Given the description of an element on the screen output the (x, y) to click on. 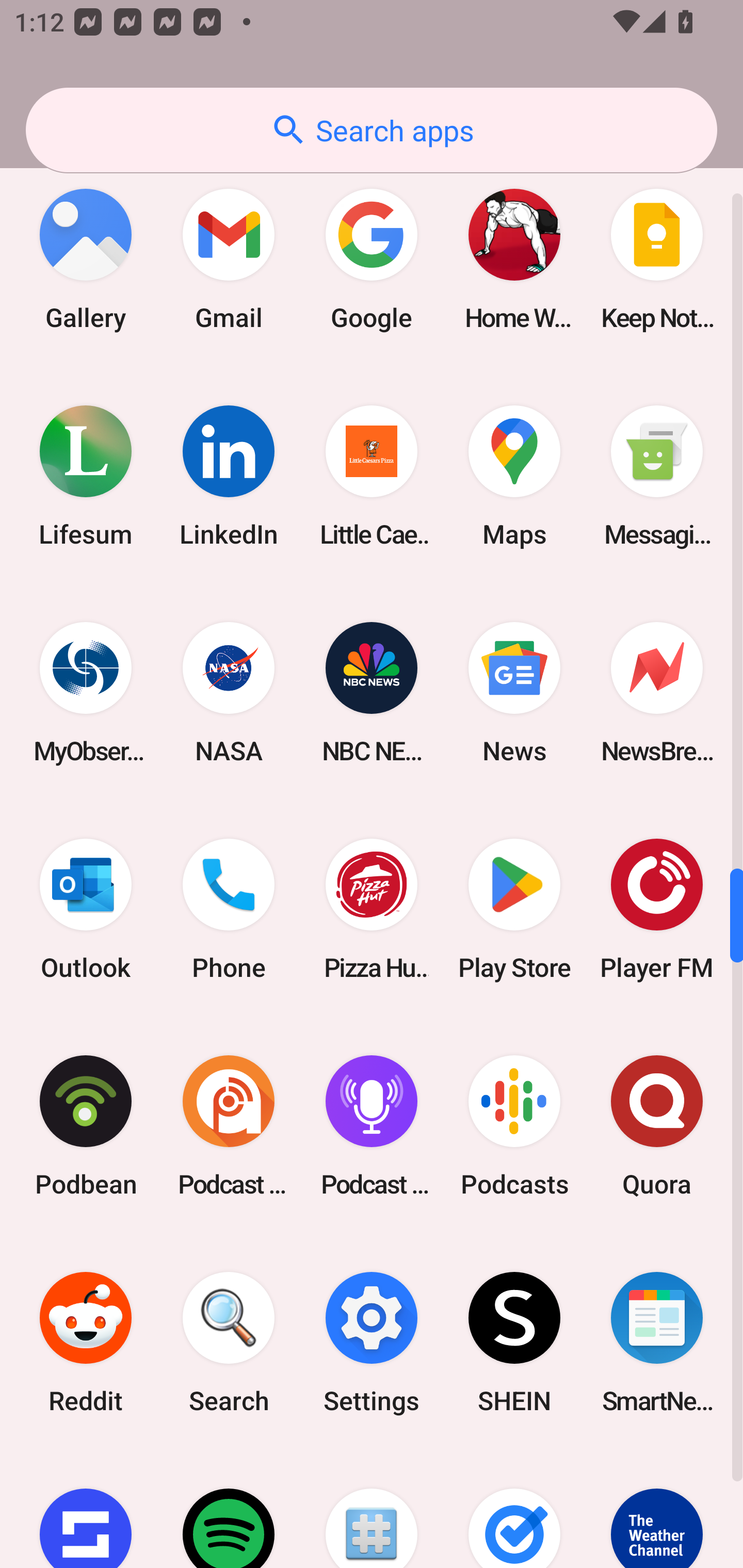
  Search apps (371, 130)
Gallery (85, 259)
Gmail (228, 259)
Google (371, 259)
Home Workout (514, 259)
Keep Notes (656, 259)
Lifesum (85, 476)
LinkedIn (228, 476)
Little Caesars Pizza (371, 476)
Maps (514, 476)
Messaging (656, 476)
MyObservatory (85, 692)
NASA (228, 692)
NBC NEWS (371, 692)
News (514, 692)
NewsBreak (656, 692)
Outlook (85, 909)
Phone (228, 909)
Pizza Hut HK & Macau (371, 909)
Play Store (514, 909)
Player FM (656, 909)
Podbean (85, 1125)
Podcast Addict (228, 1125)
Podcast Player (371, 1125)
Podcasts (514, 1125)
Quora (656, 1125)
Reddit (85, 1342)
Search (228, 1342)
Settings (371, 1342)
SHEIN (514, 1342)
SmartNews (656, 1342)
Sofascore (85, 1509)
Spotify (228, 1509)
Superuser (371, 1509)
Tasks (514, 1509)
The Weather Channel (656, 1509)
